Given the description of an element on the screen output the (x, y) to click on. 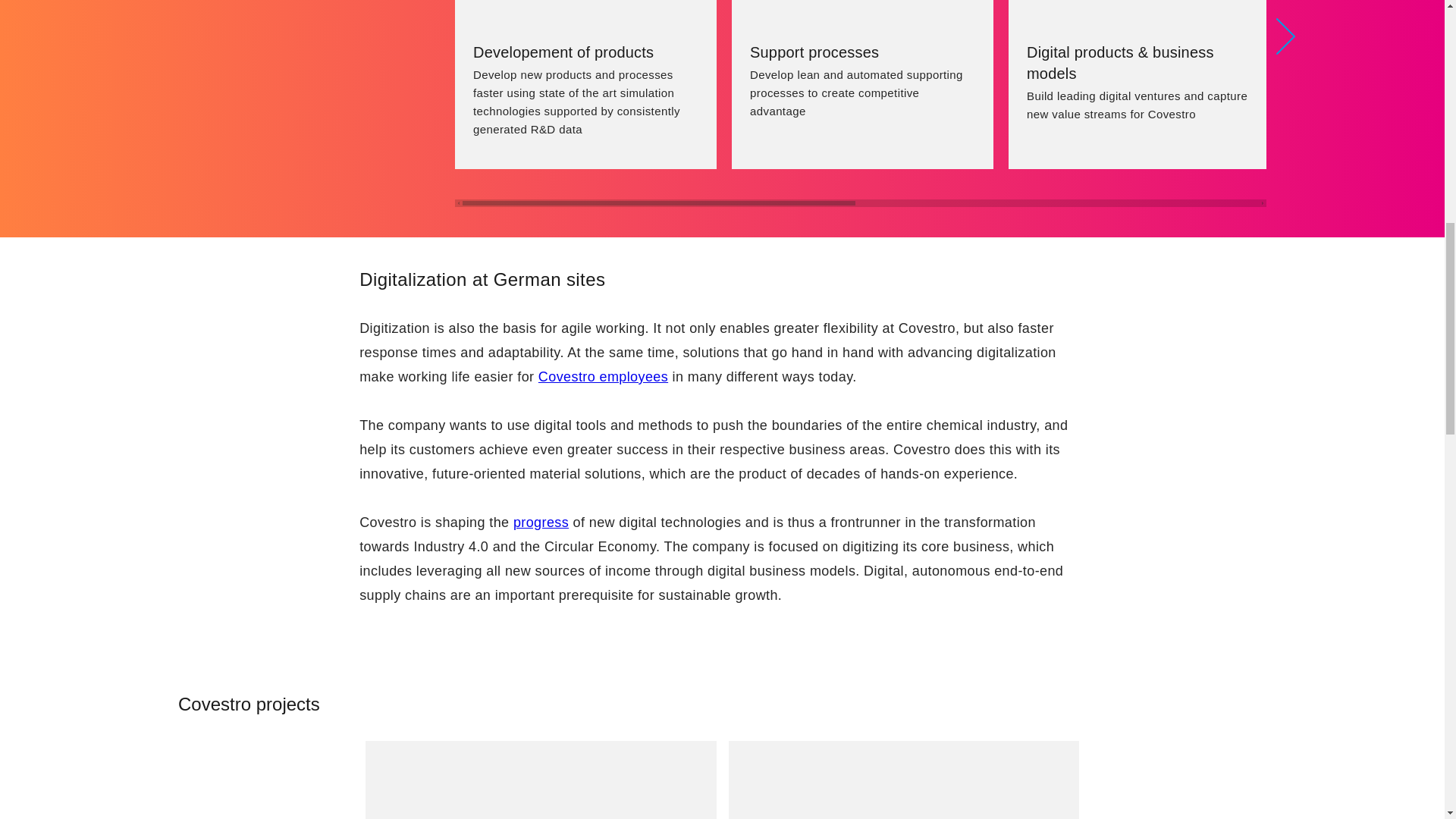
Digitalizing the core business (315, 103)
